Given the description of an element on the screen output the (x, y) to click on. 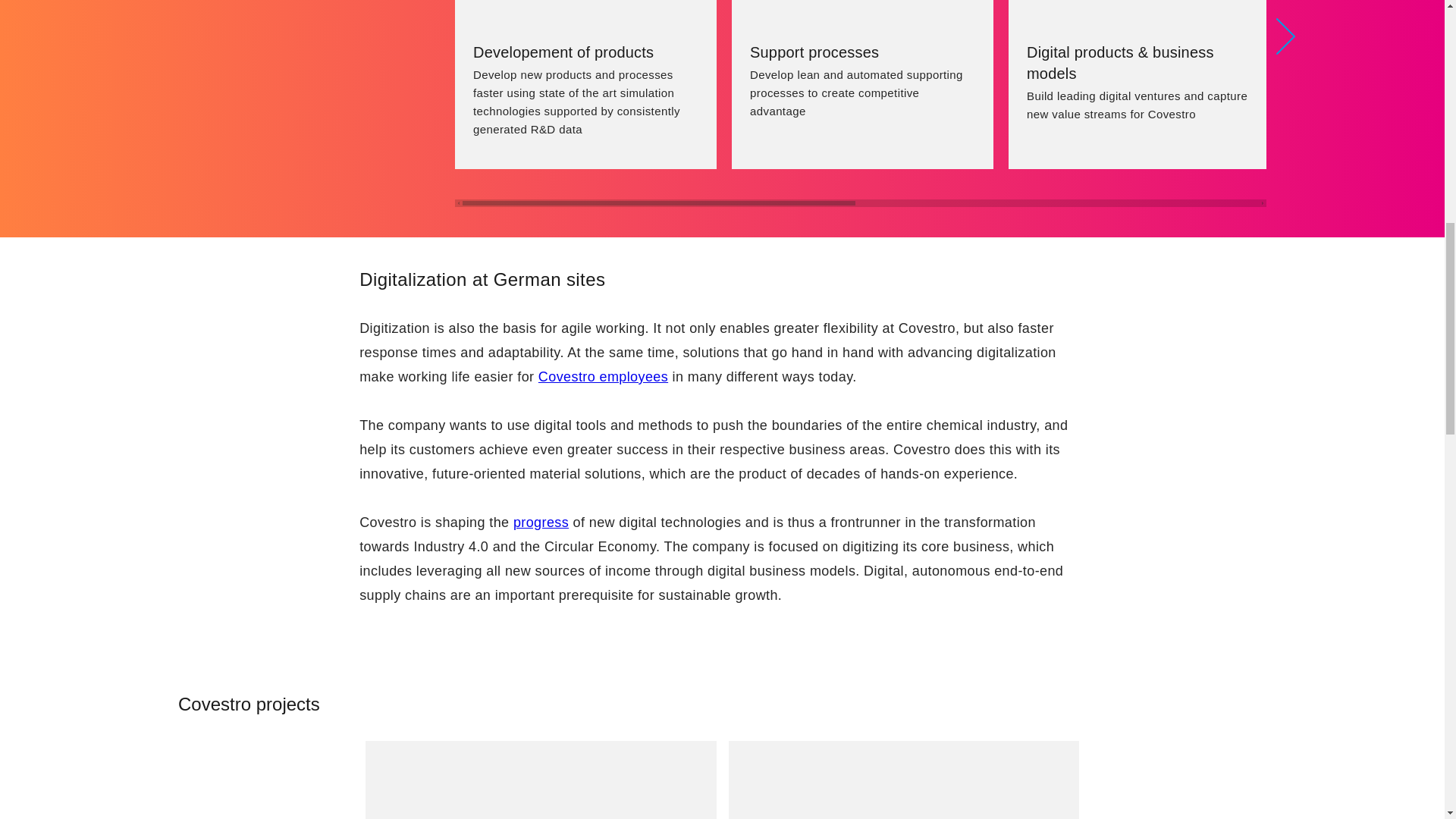
Digitalizing the core business (315, 103)
